Given the description of an element on the screen output the (x, y) to click on. 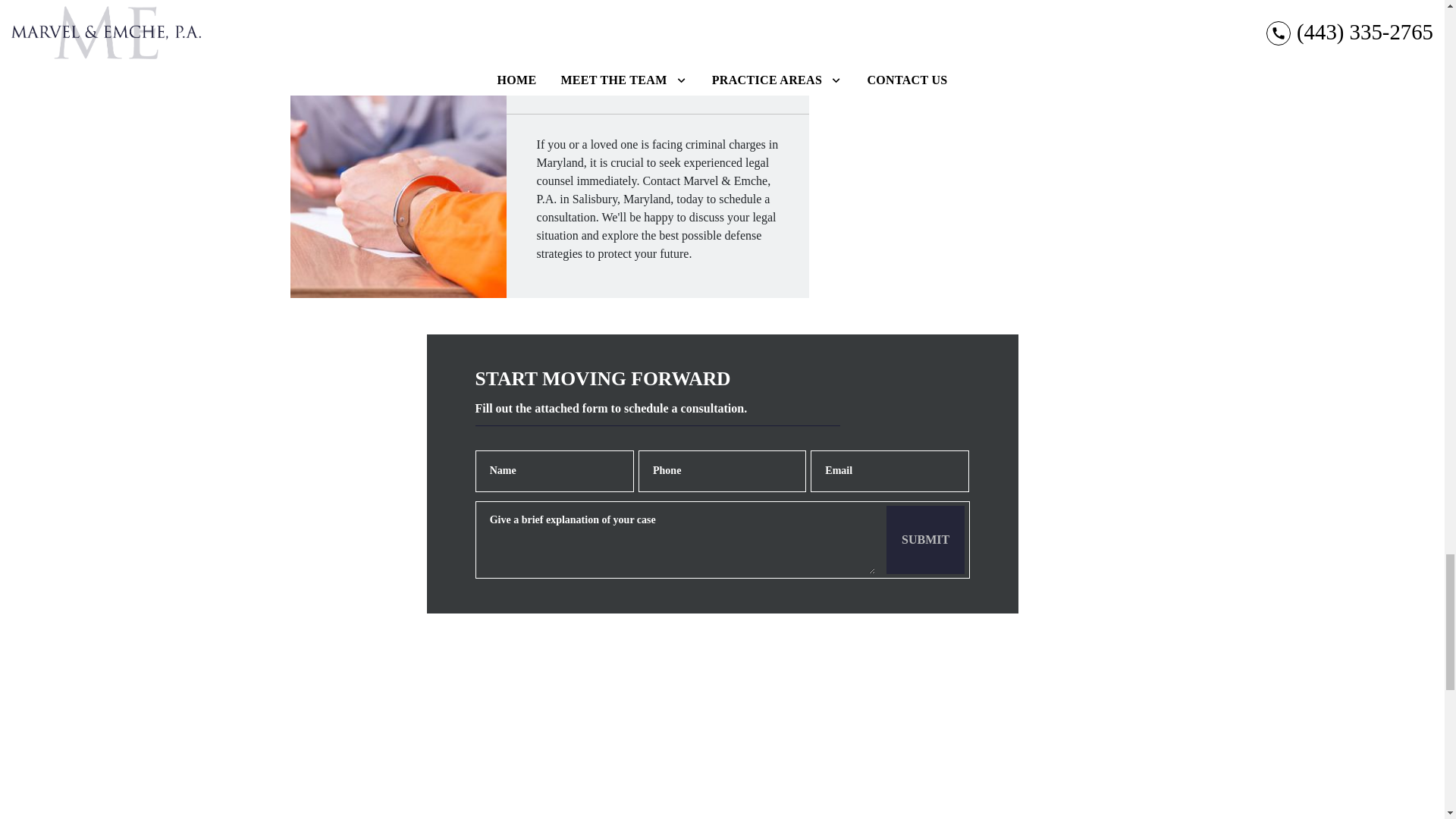
SUBMIT (924, 540)
